Given the description of an element on the screen output the (x, y) to click on. 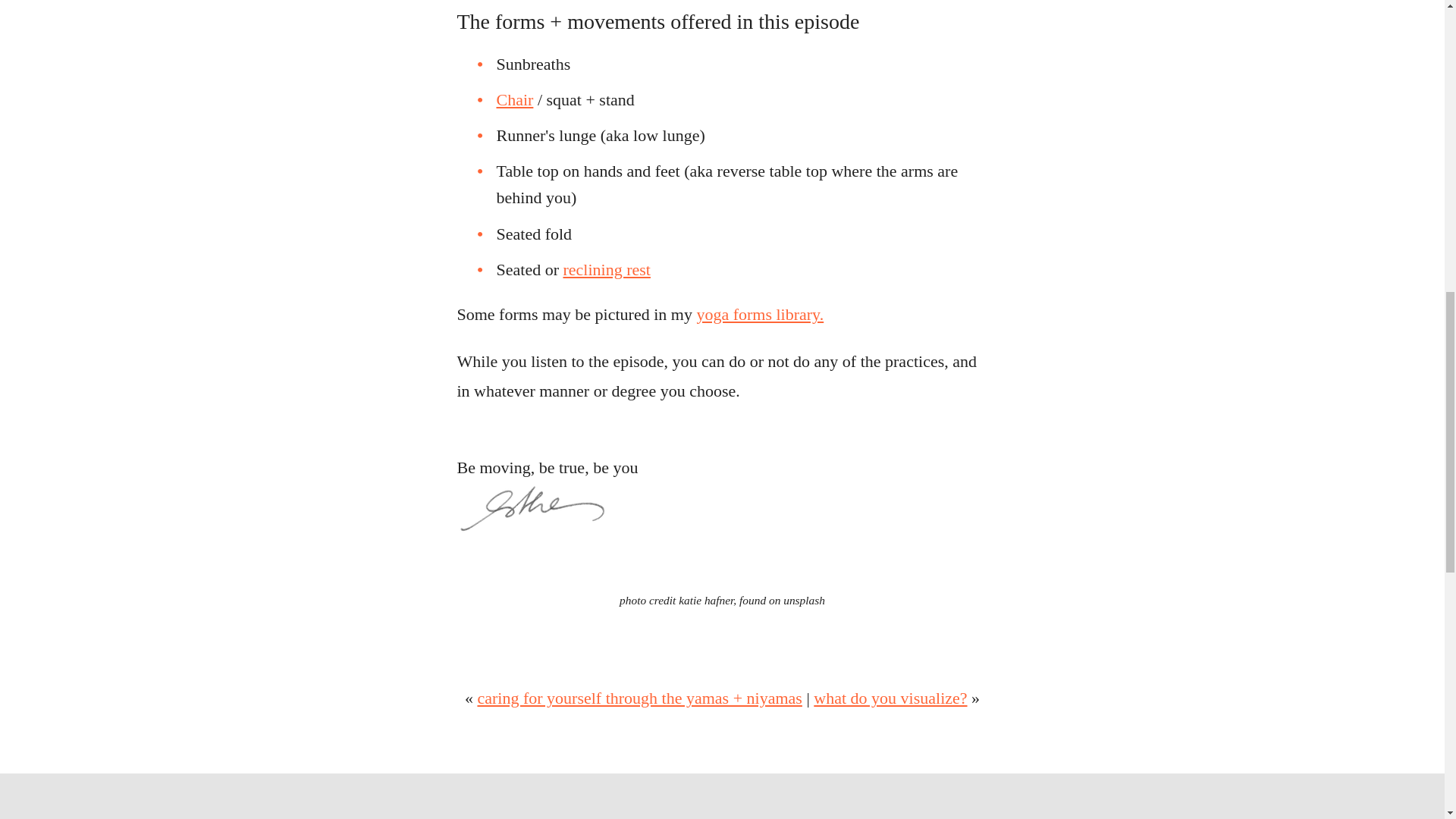
yoga forms library. (759, 313)
Chair (514, 99)
what do you visualize? (889, 697)
reclining rest (605, 269)
